Given the description of an element on the screen output the (x, y) to click on. 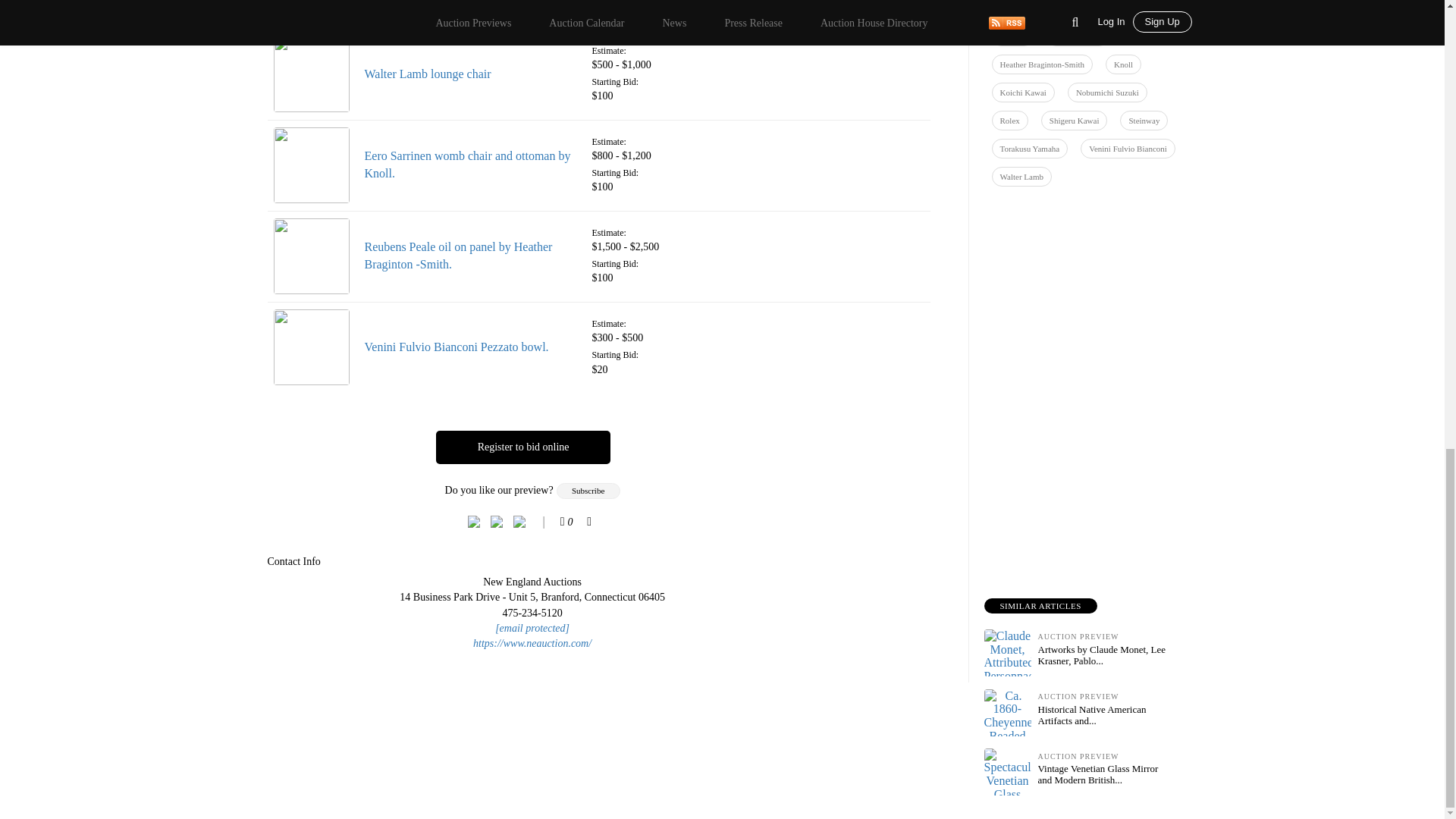
Bookmark (588, 521)
Reubens Peale oil on panel by Heather Braginton -Smith. (457, 255)
Venini Fulvio Bianconi Pezzato bowl. (456, 346)
Eero Sarrinen womb chair and ottoman by Knoll. (467, 164)
Walter Lamb lounge chair (427, 73)
